Given the description of an element on the screen output the (x, y) to click on. 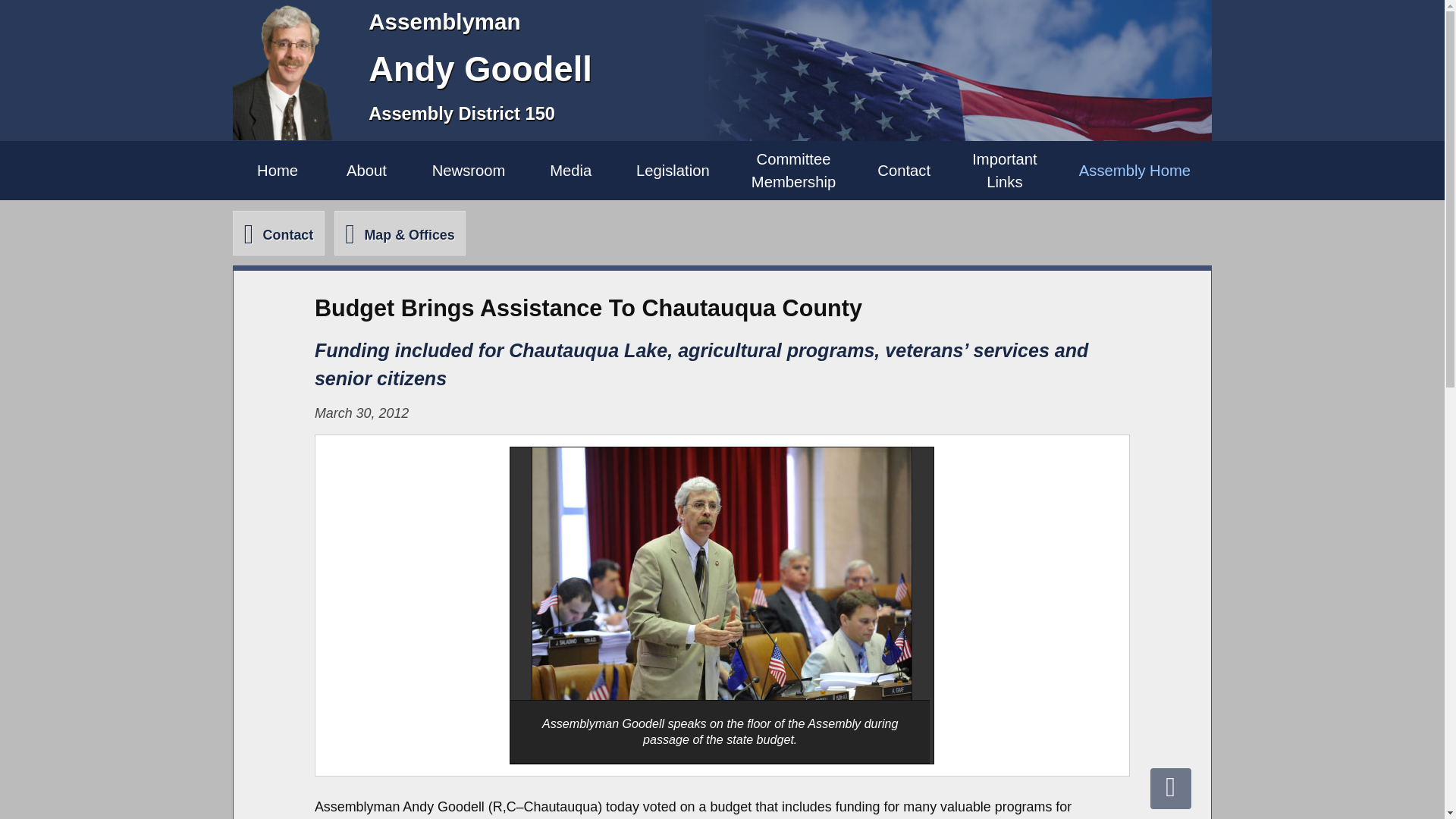
Home (276, 169)
Legislation (672, 169)
Contact (277, 232)
Media (569, 169)
Contact (904, 169)
Assembly Home (1134, 169)
Newsroom (467, 169)
About (1005, 169)
